Given the description of an element on the screen output the (x, y) to click on. 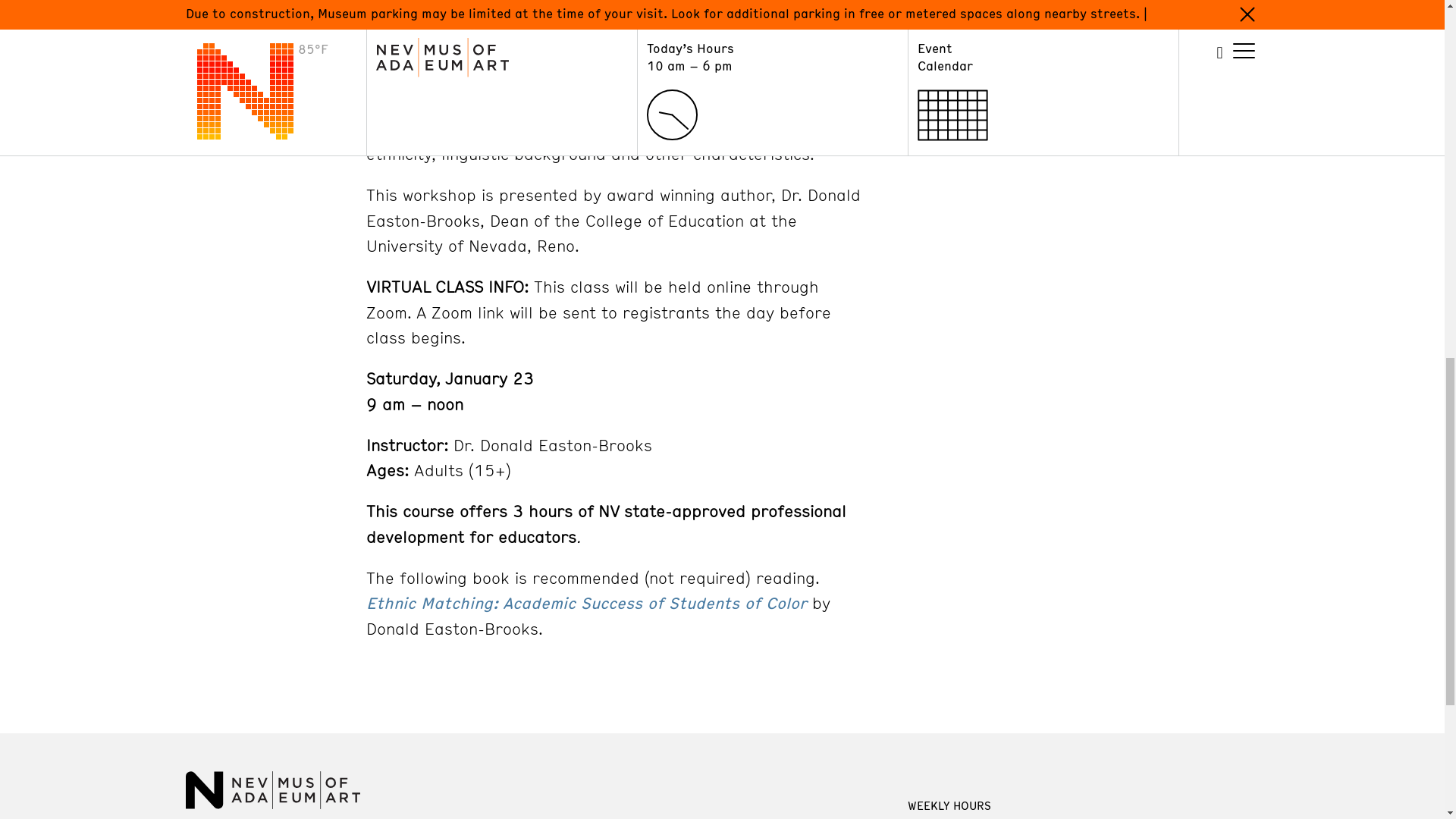
Ethnic Matching: Academic Success of Students of Color (585, 602)
